Given the description of an element on the screen output the (x, y) to click on. 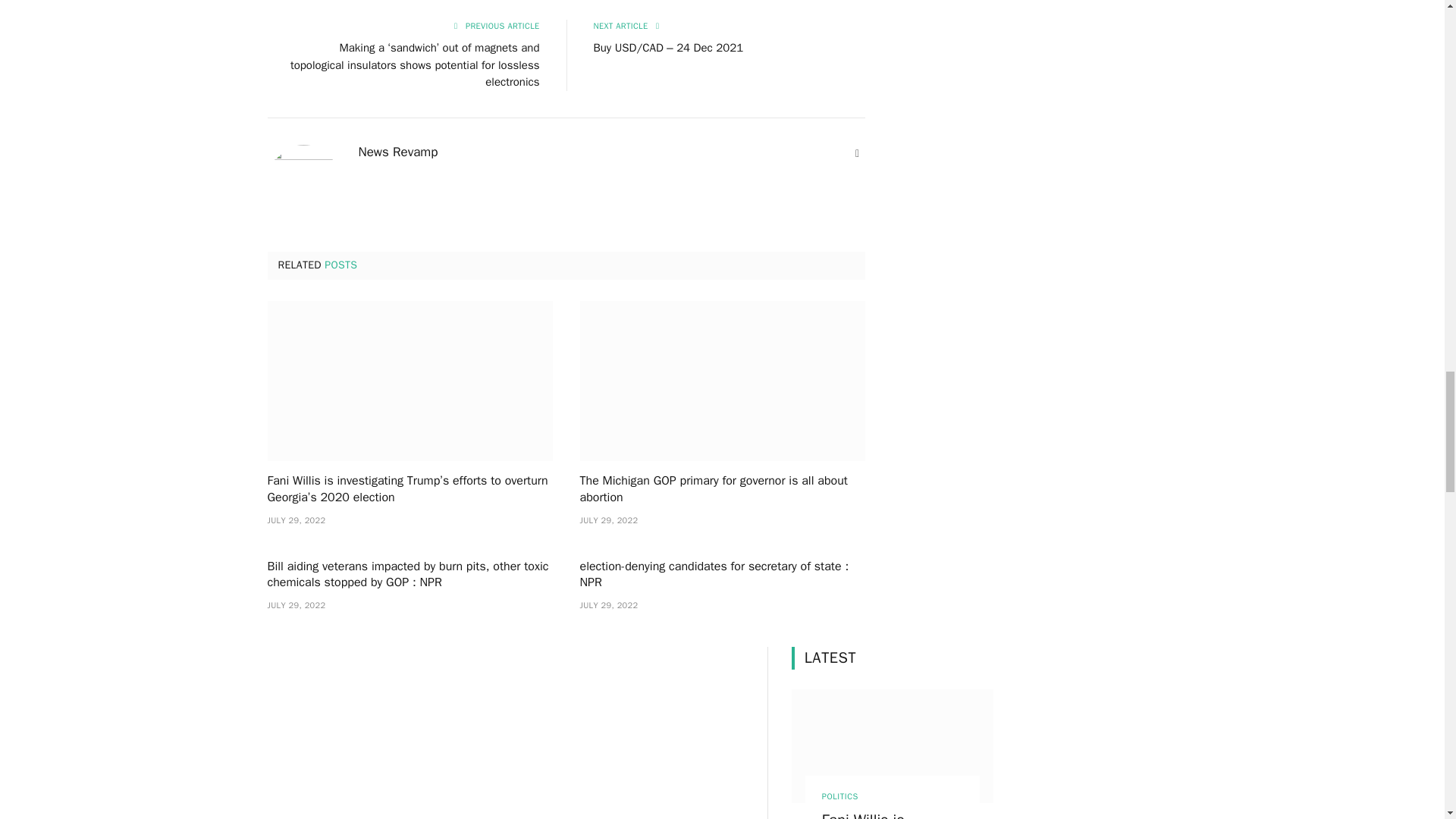
election-denying candidates for secretary of state : NPR (721, 575)
Website (856, 153)
Website (856, 153)
The Michigan GOP primary for governor is all about abortion (721, 489)
News Revamp (398, 151)
The Michigan GOP primary for governor is all about abortion (721, 381)
Posts by News Revamp (398, 151)
